Given the description of an element on the screen output the (x, y) to click on. 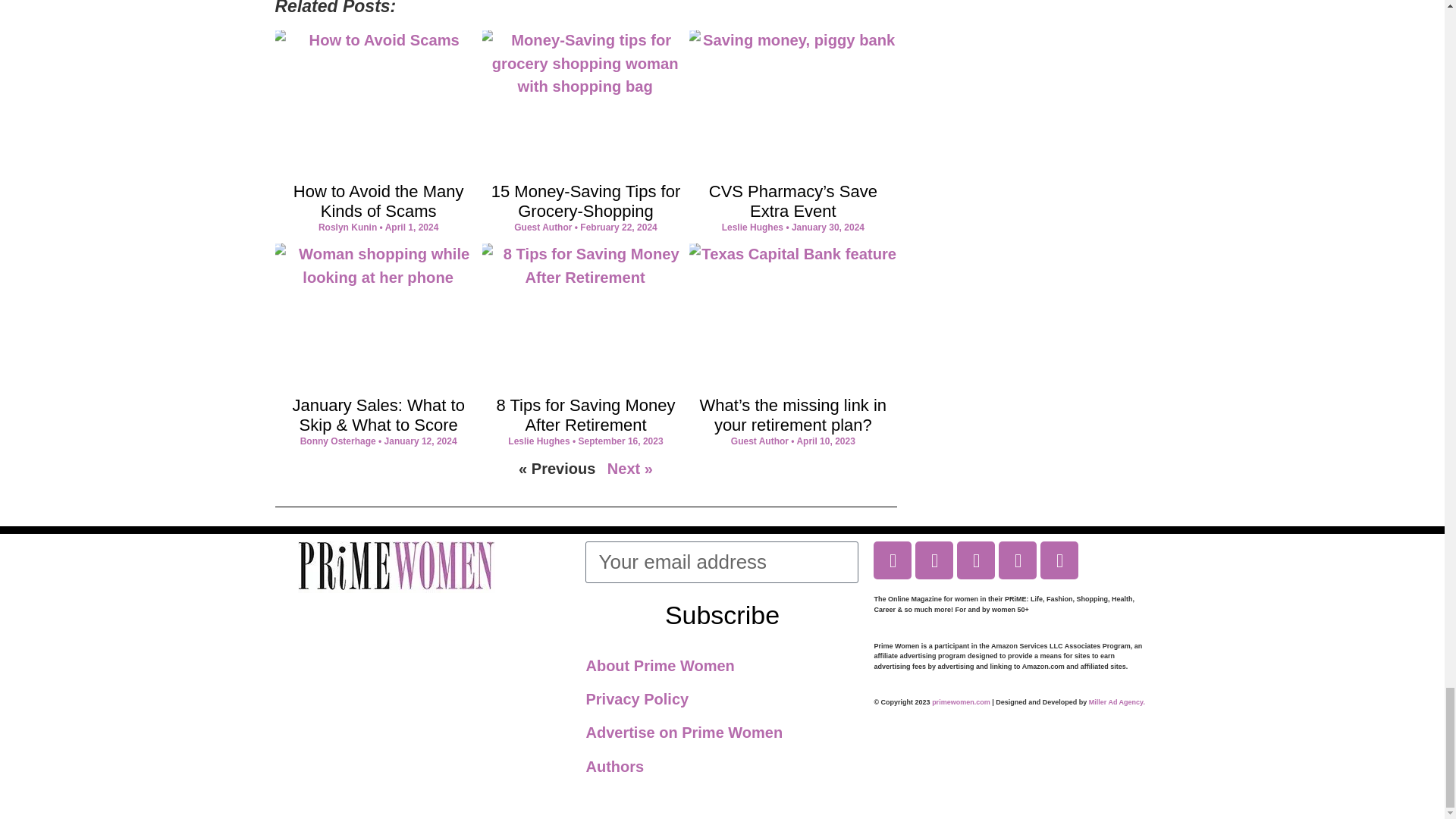
Miller Ad Agency. (1116, 701)
Advertise on Prime Women (684, 732)
Subscribe (722, 614)
15 Money-Saving Tips for Grocery-Shopping (585, 200)
8 Tips for Saving Money After Retirement (585, 414)
About Prime Women (659, 665)
primewomen.com (960, 701)
How to Avoid the Many Kinds of Scams (379, 200)
Privacy Policy (636, 699)
Authors (614, 766)
